Given the description of an element on the screen output the (x, y) to click on. 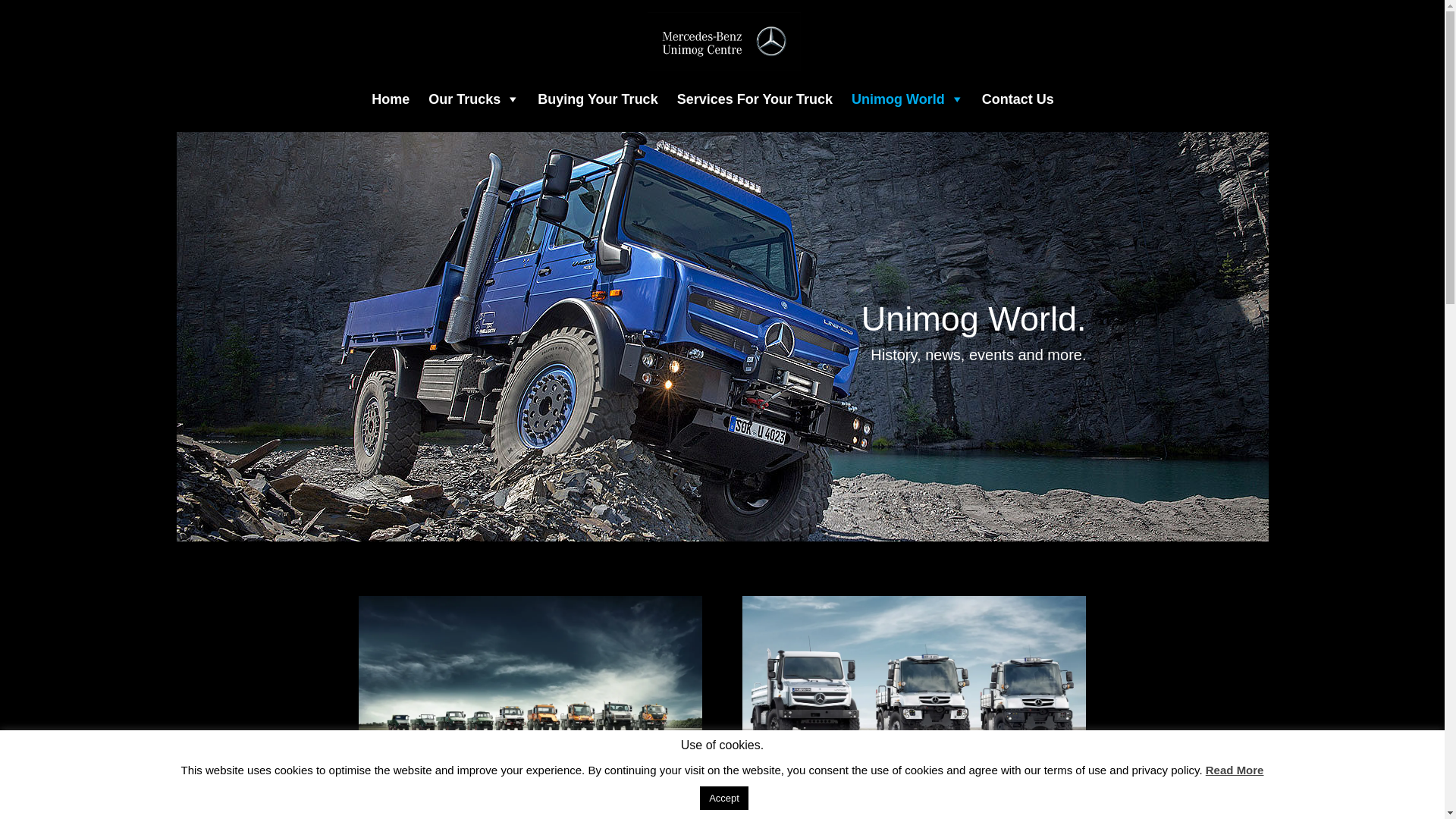
Services For Your Truck Element type: text (754, 99)
Accept Element type: text (723, 797)
Contact Us Element type: text (1018, 99)
Home Element type: text (390, 99)
Read More Element type: text (1234, 770)
Our Trucks Element type: text (473, 99)
Unimog World Element type: text (907, 99)
Buying Your Truck Element type: text (597, 99)
